Given the description of an element on the screen output the (x, y) to click on. 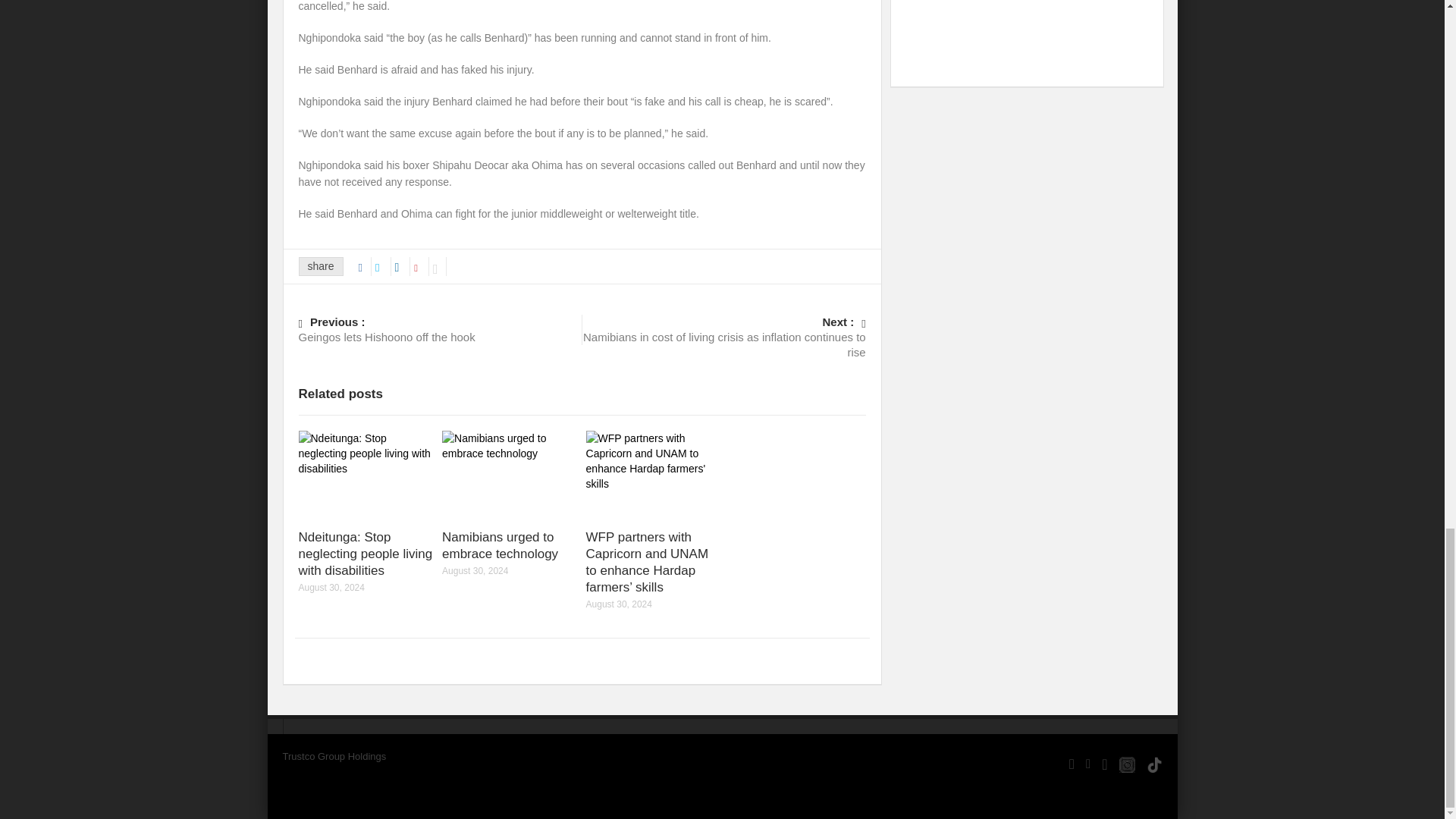
Ndeitunga: Stop neglecting people living with disabilities (365, 553)
Namibians urged to embrace technology (499, 545)
